Given the description of an element on the screen output the (x, y) to click on. 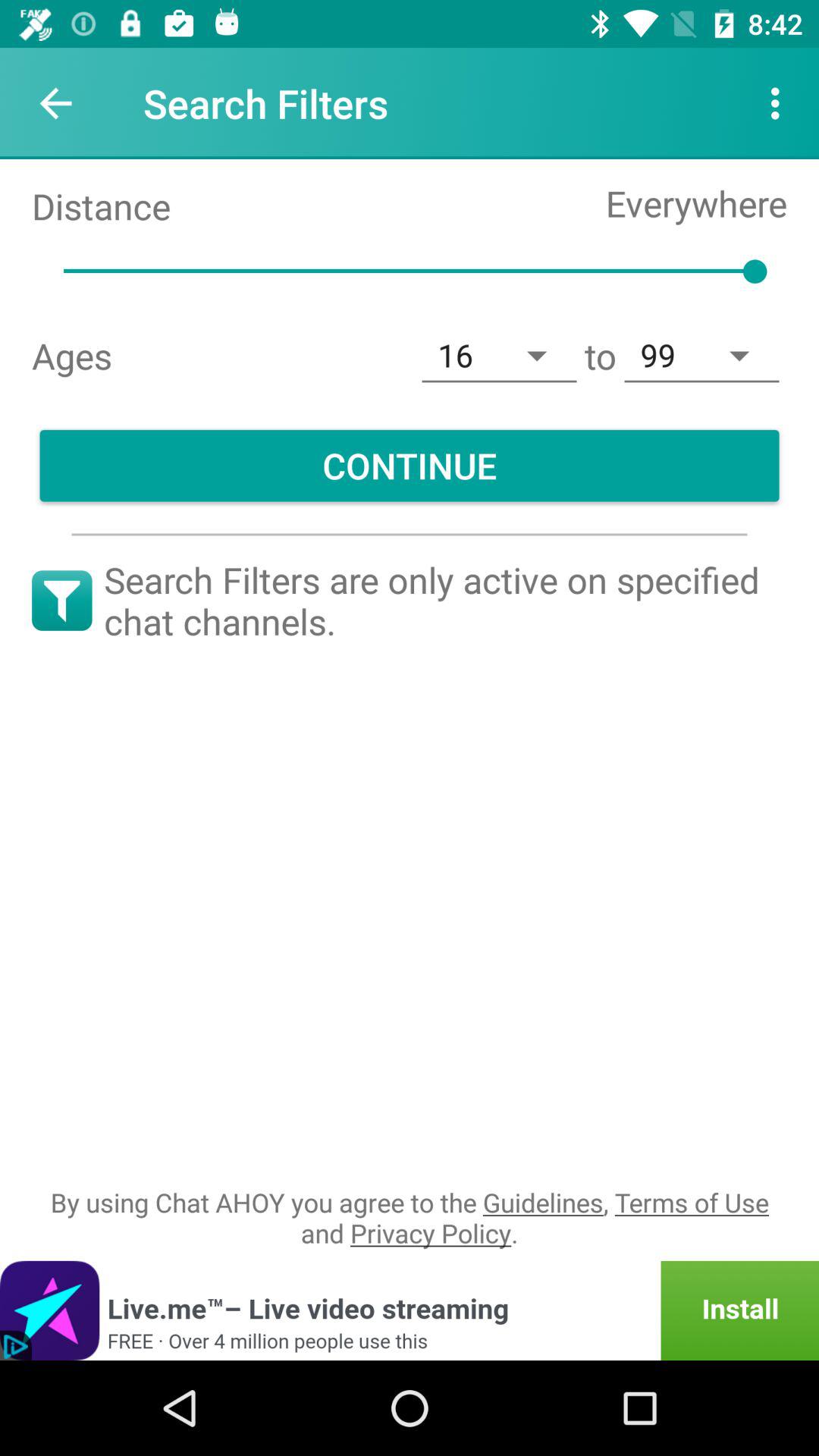
jump until continue icon (409, 465)
